Given the description of an element on the screen output the (x, y) to click on. 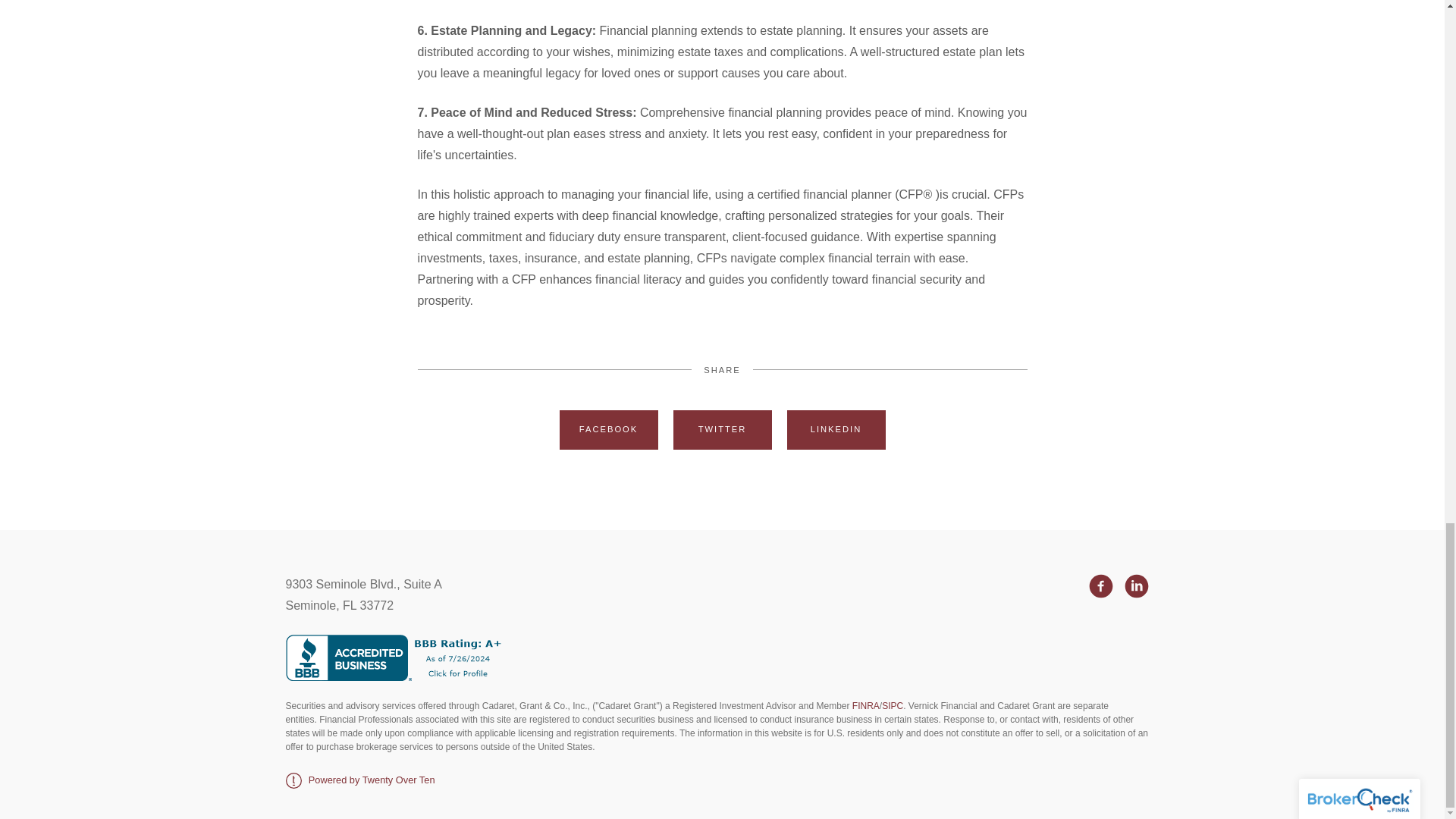
TWITTER (722, 429)
LINKEDIN (836, 429)
FACEBOOK (608, 429)
Powered by Twenty Over Ten (359, 779)
FINRA (865, 706)
SIPC (892, 706)
